Given the description of an element on the screen output the (x, y) to click on. 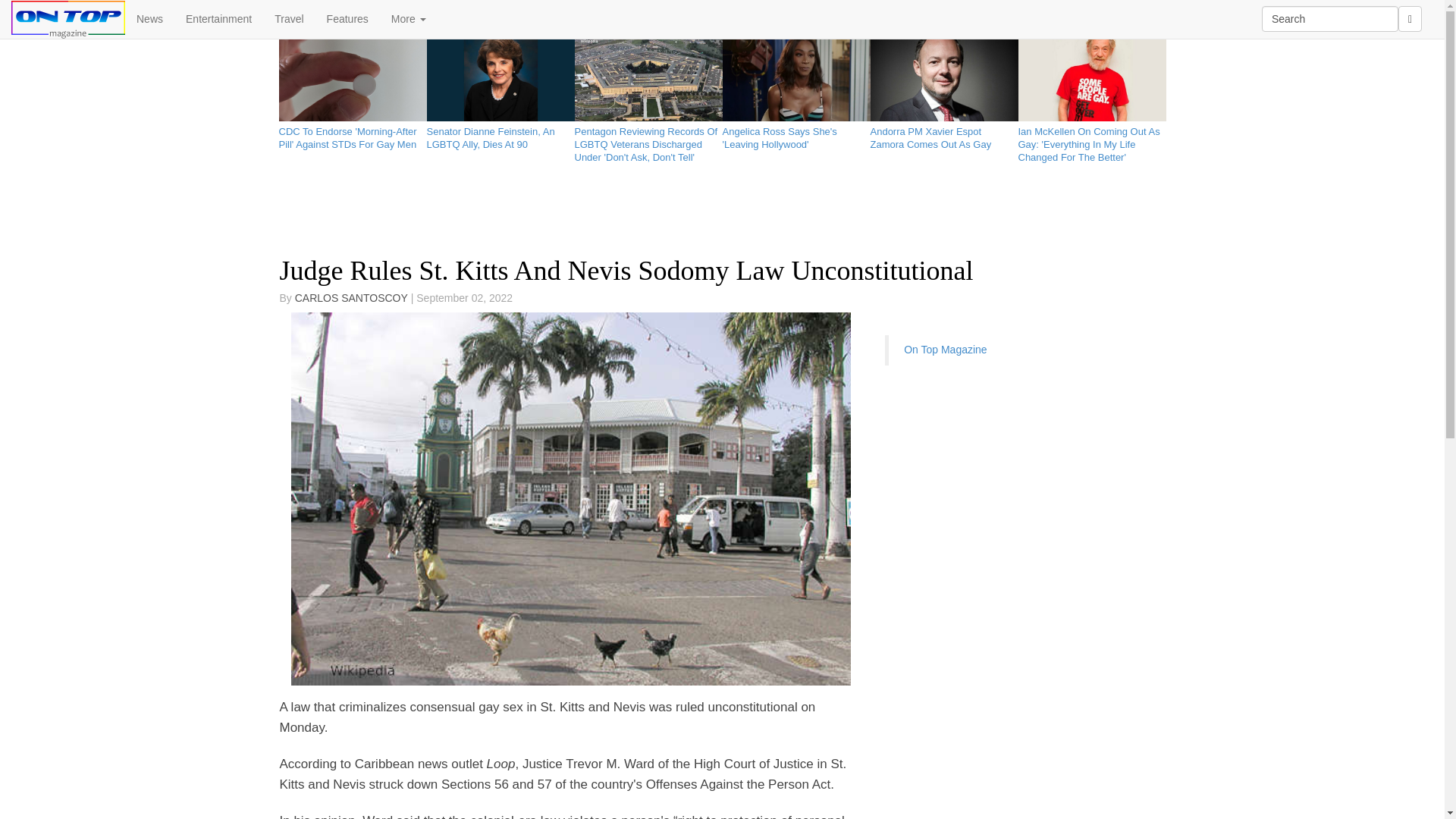
News (149, 18)
Features (347, 18)
Angelica Ross Says She's 'Leaving Hollywood' (795, 135)
Search by keyword (1329, 18)
Senator Dianne Feinstein, An LGBTQ Ally, Dies At 90 (499, 135)
Search (1329, 18)
CDC To Endorse 'Morning-After Pill' Against STDs For Gay Men (352, 135)
Entertainment (218, 18)
Travel (288, 18)
Andorra PM Xavier Espot Zamora Comes Out As Gay (943, 135)
More (409, 18)
